Given the description of an element on the screen output the (x, y) to click on. 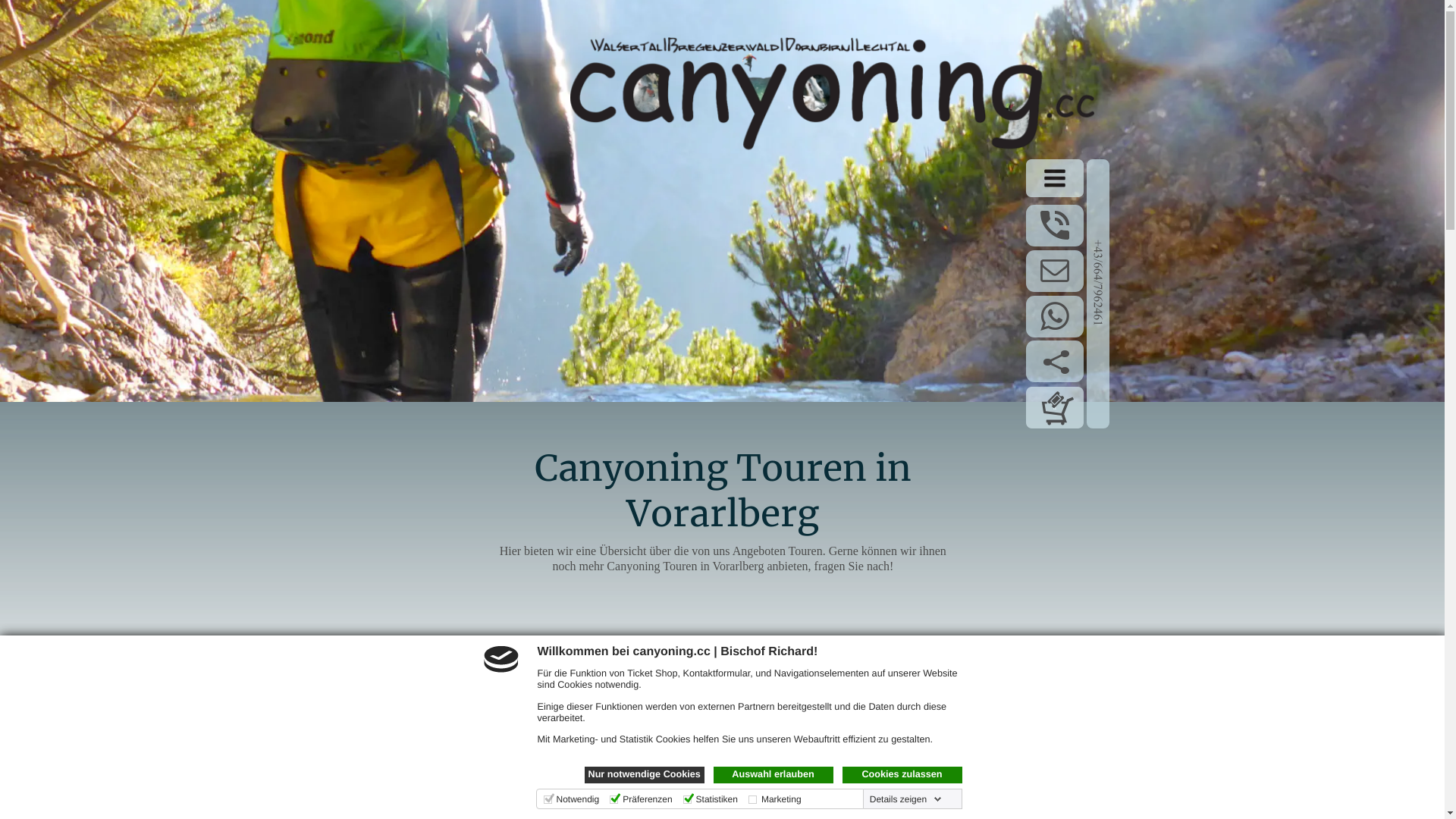
Short Merlin Element type: text (769, 672)
Details zeigen Element type: text (905, 799)
Auswahl erlauben Element type: text (772, 774)
Nur notwendige Cookies Element type: text (643, 774)
Funny Water Element type: text (422, 671)
Cookies zulassen Element type: text (901, 774)
